Given the description of an element on the screen output the (x, y) to click on. 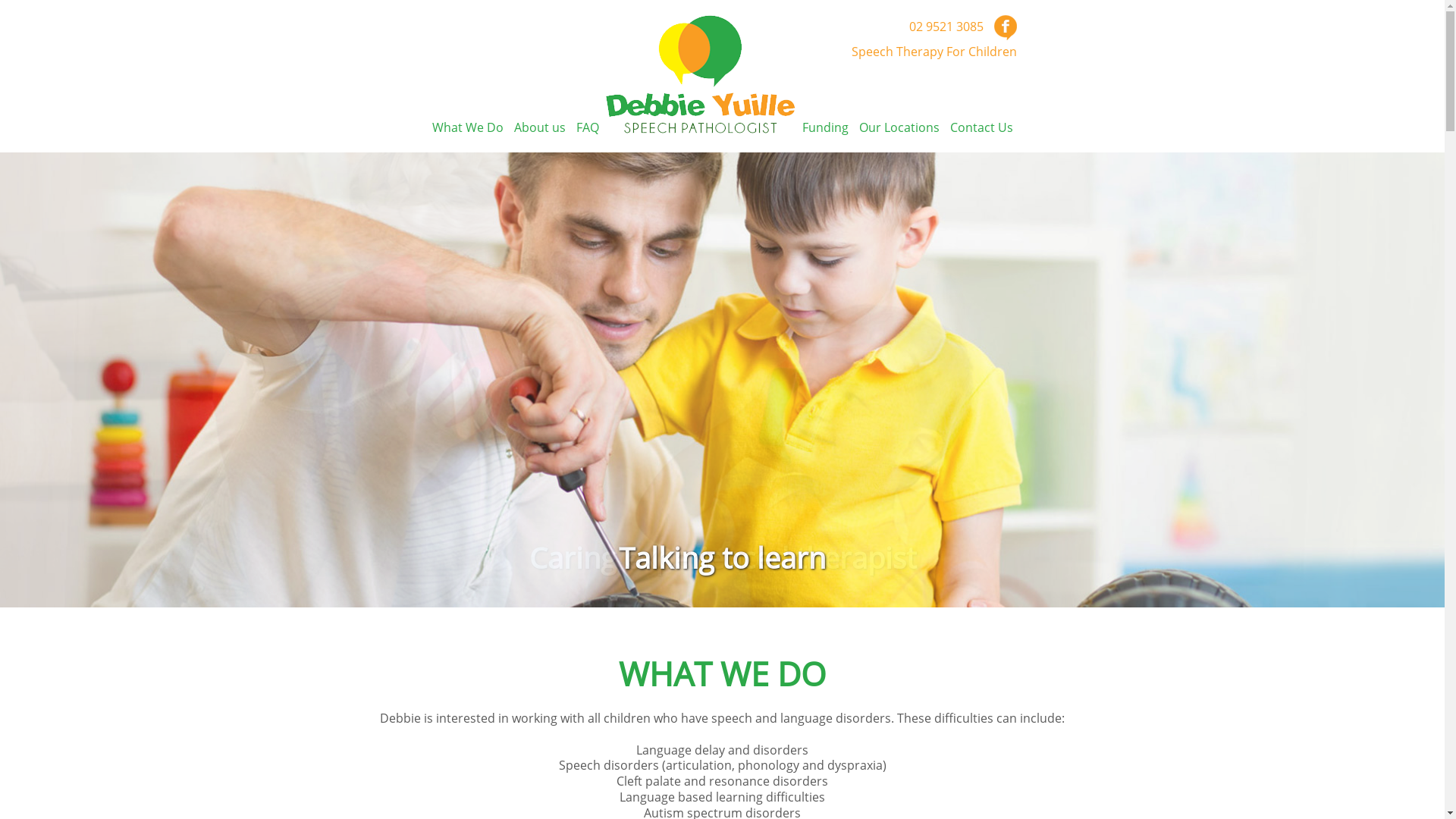
What We Do Element type: text (467, 127)
Contact Us Element type: text (980, 127)
About us Element type: text (539, 127)
Our Locations Element type: text (898, 127)
Funding Element type: text (825, 127)
FAQ Element type: text (587, 127)
